Given the description of an element on the screen output the (x, y) to click on. 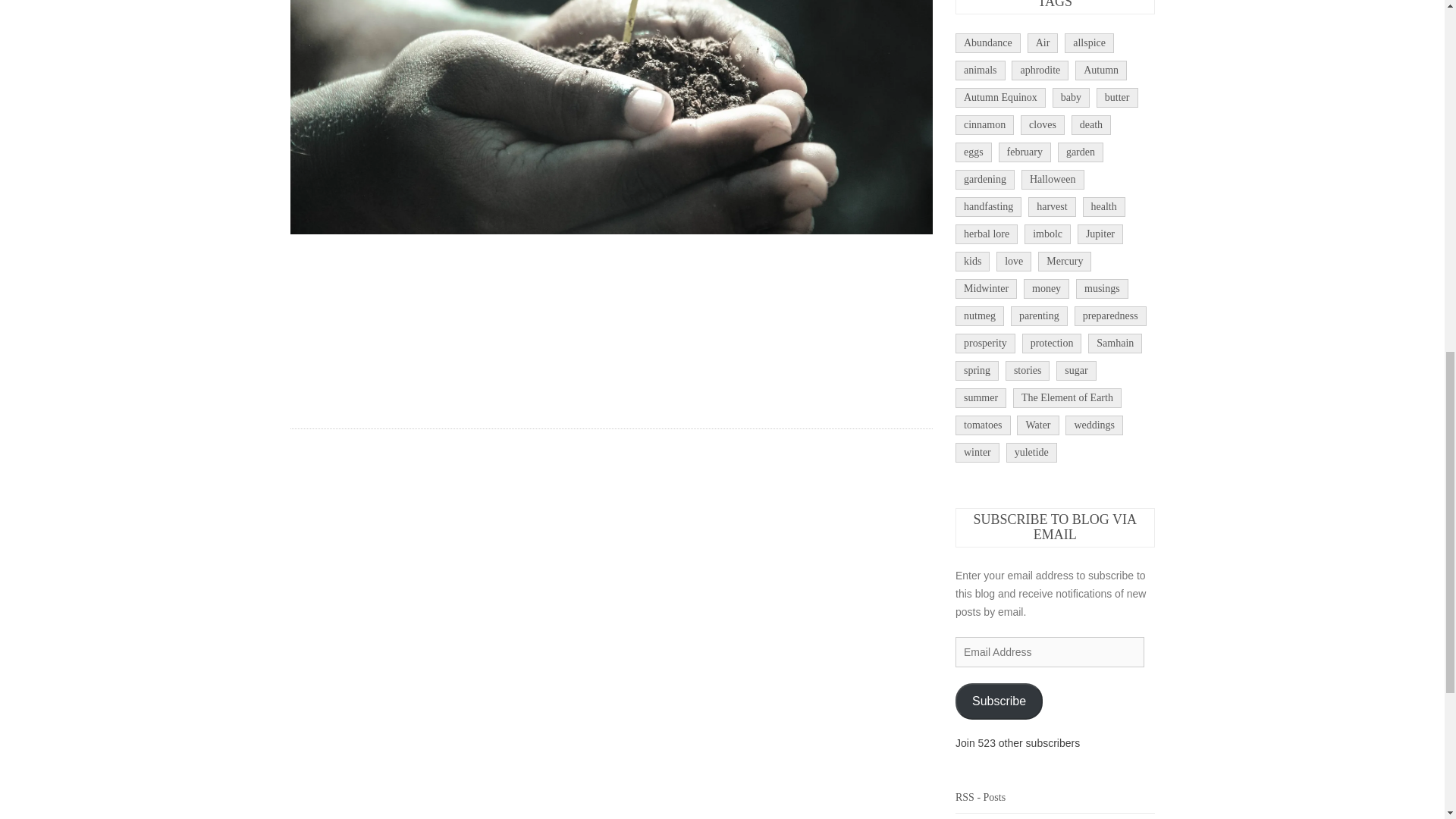
february (1024, 152)
allspice (1088, 43)
aphrodite (1039, 70)
Air (1042, 43)
Halloween (1053, 179)
gardening (984, 179)
handfasting (988, 207)
eggs (973, 152)
baby (1070, 97)
butter (1117, 97)
cinnamon (984, 125)
harvest (1051, 207)
Autumn Equinox (1000, 97)
animals (980, 70)
Abundance (987, 43)
